Given the description of an element on the screen output the (x, y) to click on. 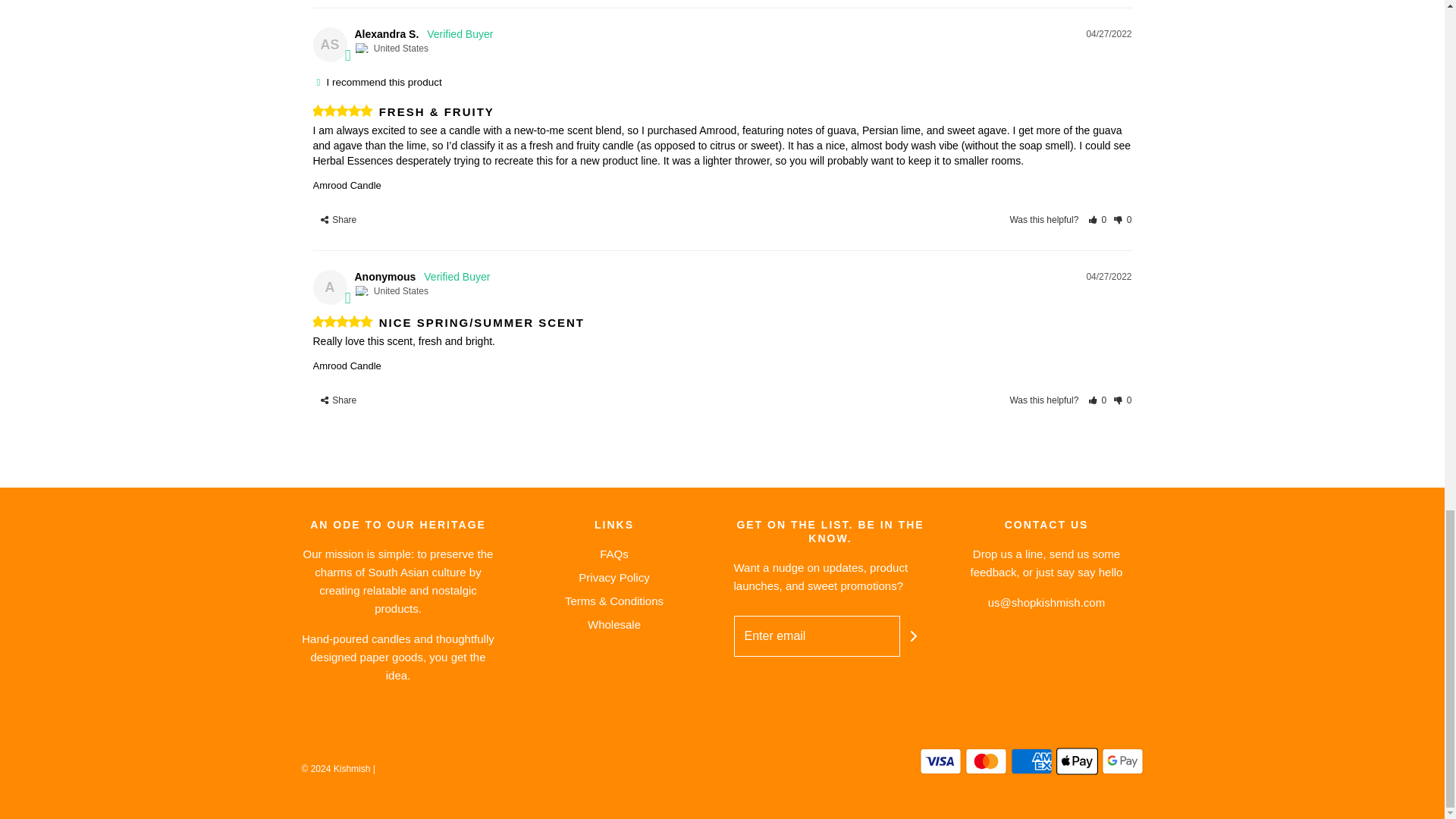
Apple Pay (1076, 761)
Visa (939, 761)
American Express (1030, 761)
Google Pay (1121, 761)
Mastercard (984, 761)
